Given the description of an element on the screen output the (x, y) to click on. 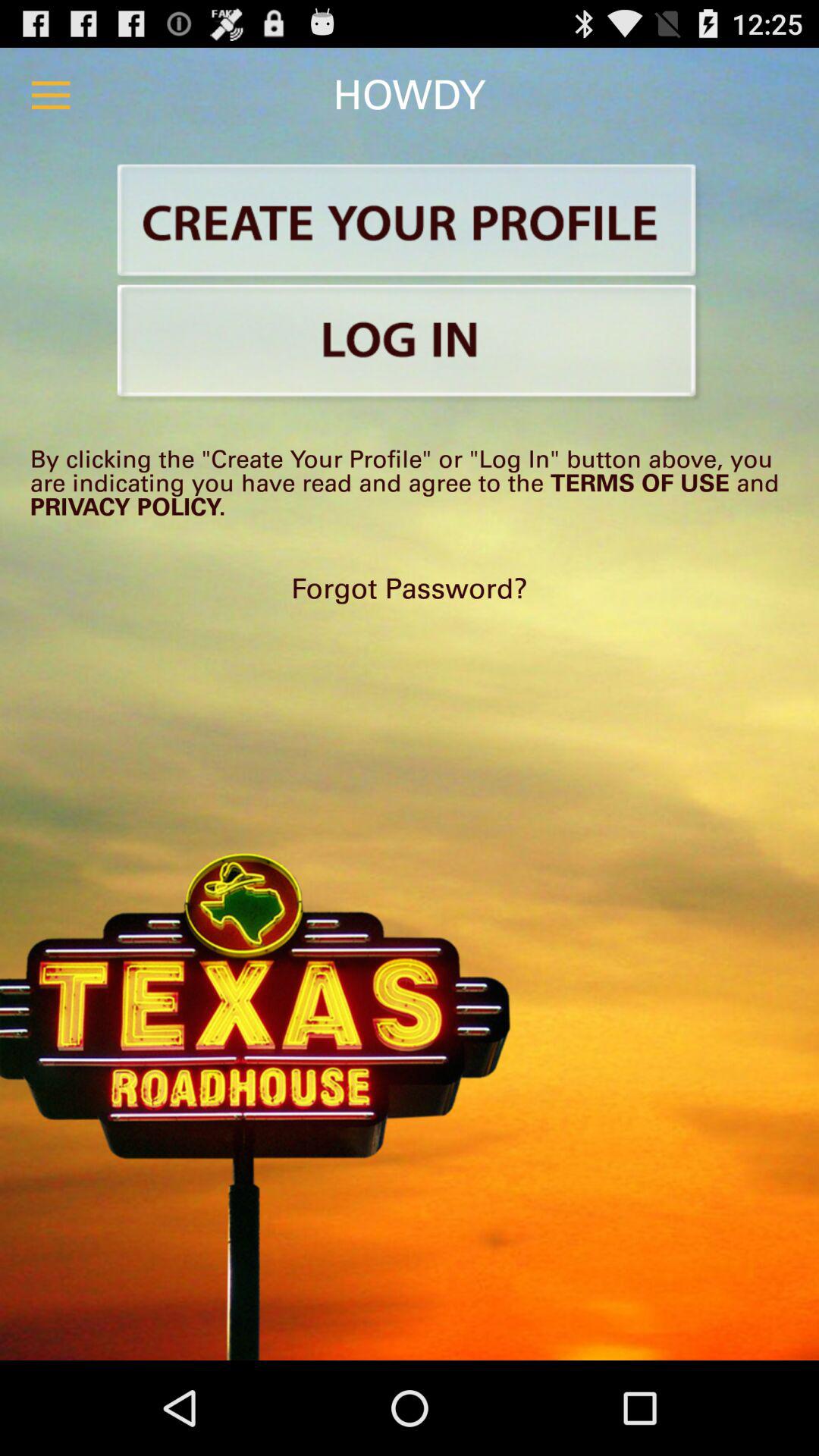
go to login (409, 343)
